Given the description of an element on the screen output the (x, y) to click on. 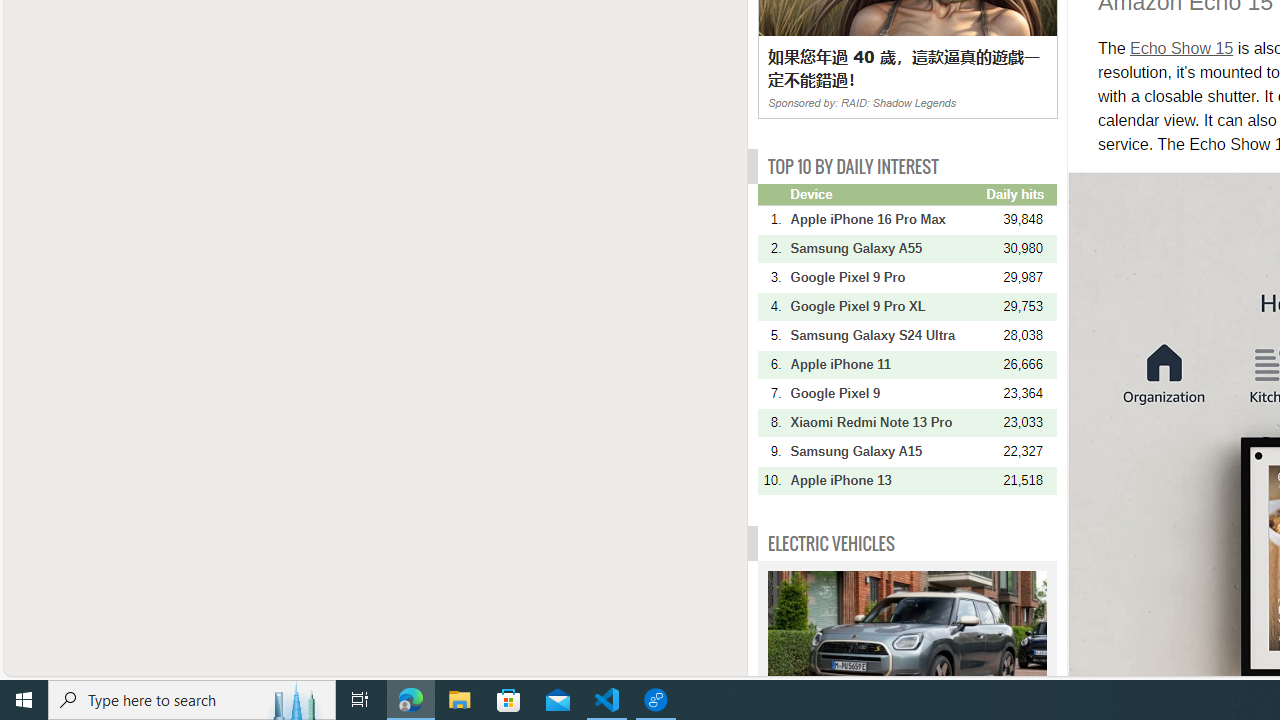
Google Pixel 9 (886, 393)
Xiaomi Redmi Note 13 Pro (886, 422)
Apple iPhone 11 (886, 363)
Google Pixel 9 Pro XL (886, 306)
Apple iPhone 13 (886, 480)
Samsung Galaxy A55 (886, 248)
Google Pixel 9 Pro (886, 277)
Echo Show 15 (1181, 48)
Samsung Galaxy S24 Ultra (886, 335)
Apple iPhone 16 Pro Max (886, 219)
Samsung Galaxy A15 (886, 451)
